Given the description of an element on the screen output the (x, y) to click on. 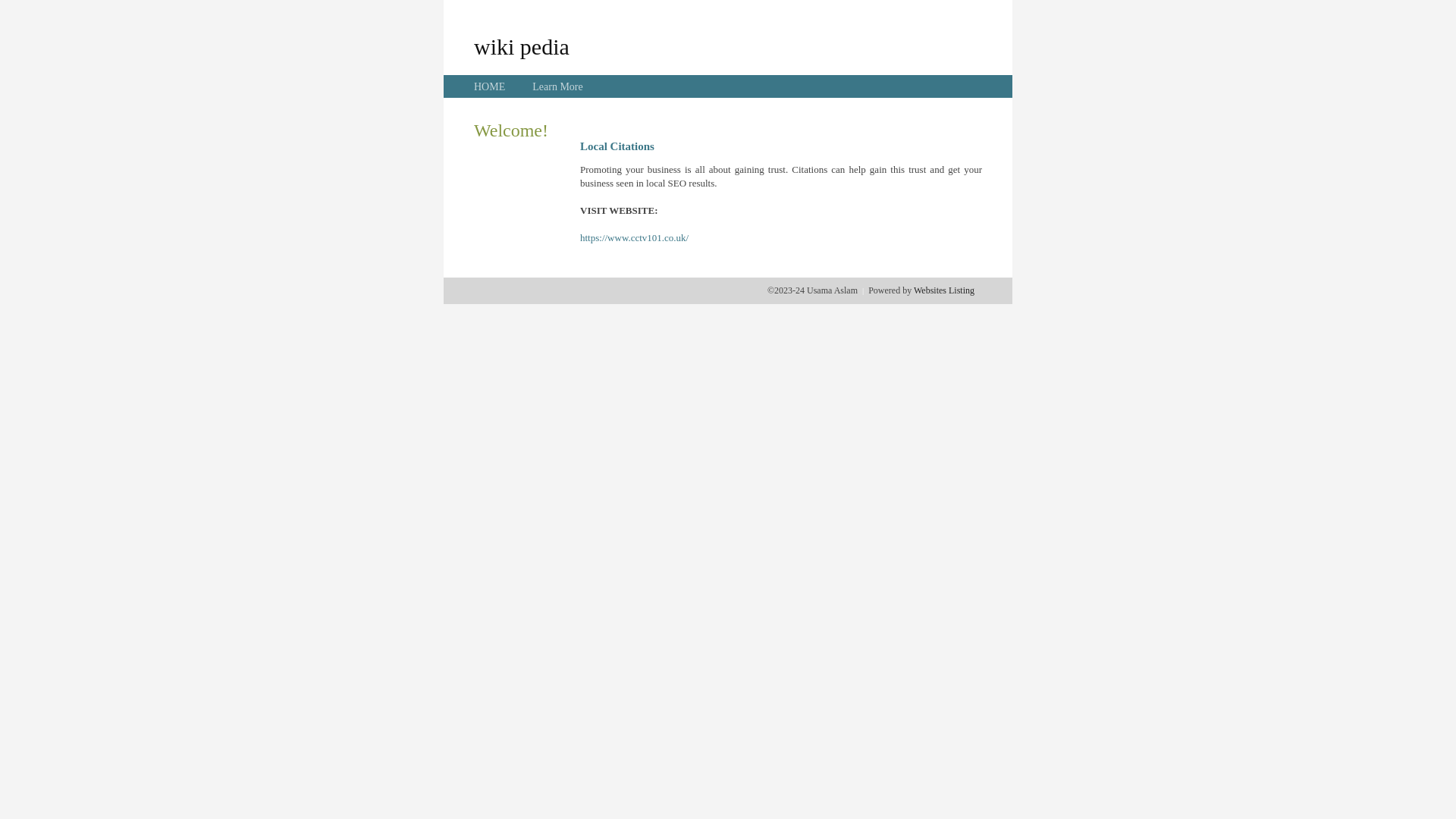
Websites Listing Element type: text (943, 290)
Learn More Element type: text (557, 86)
https://www.cctv101.co.uk/ Element type: text (634, 237)
HOME Element type: text (489, 86)
wiki pedia Element type: text (521, 46)
